Given the description of an element on the screen output the (x, y) to click on. 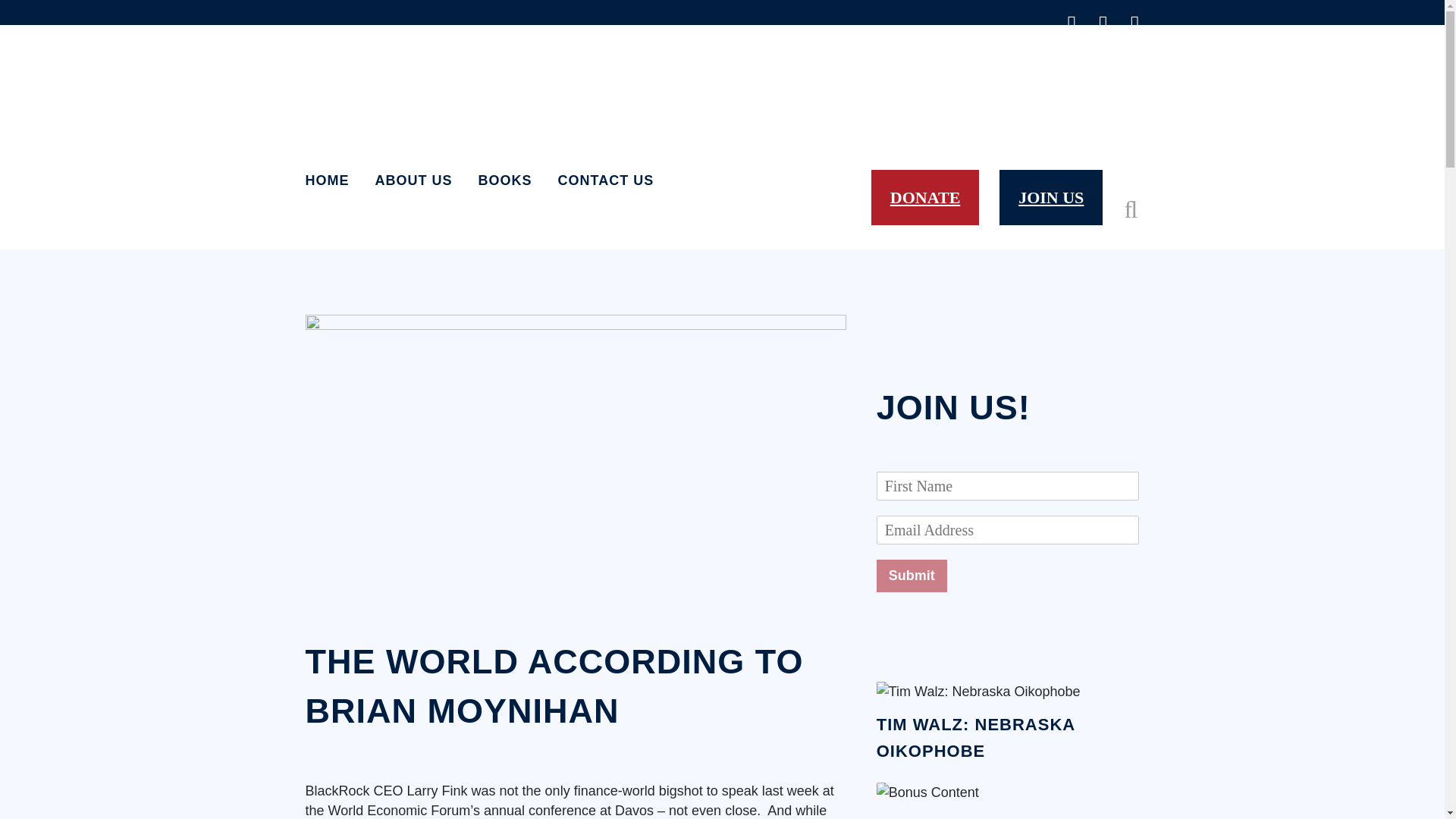
CONTACT US (605, 180)
TIM WALZ: NEBRASKA OIKOPHOBE (975, 737)
BOOKS (504, 180)
BONUS CONTENT (954, 817)
JOIN US (1050, 197)
ABOUT US (413, 180)
HOME (332, 180)
Submit (911, 575)
DONATE (924, 197)
